Given the description of an element on the screen output the (x, y) to click on. 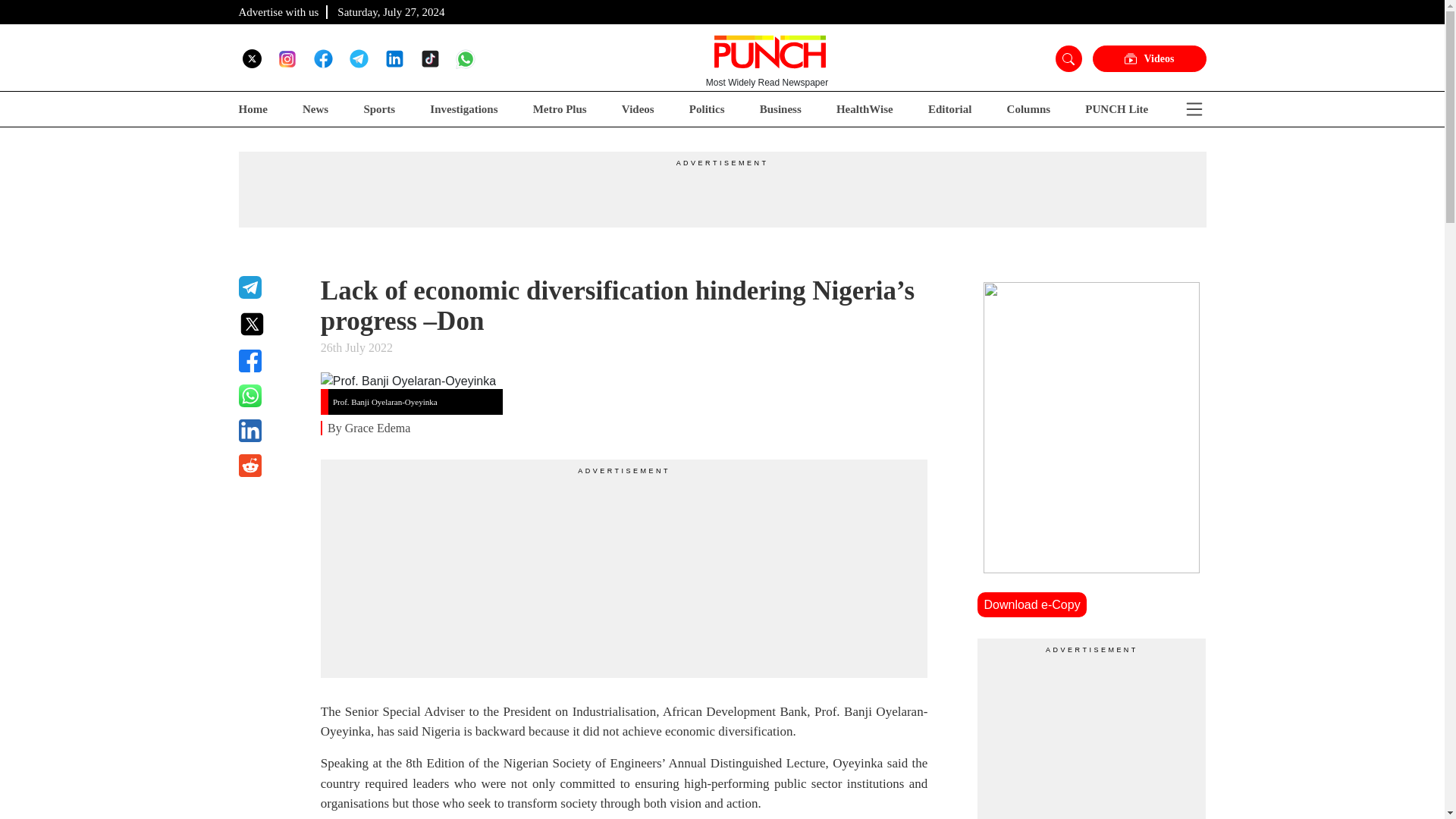
Follow us on our Whatsapp Channel (465, 57)
Follow Us on Instagram (287, 58)
Videos (1148, 58)
Follow Our Channel on Telegram (358, 58)
HealthWise (864, 109)
Share on Twitter (269, 324)
Share on Linkedin (269, 430)
Follow us on Tiktok (430, 58)
Editorial (950, 109)
Follow us on Linkedin (395, 58)
Videos (637, 109)
Advertise with us (278, 11)
News (315, 109)
Home (252, 109)
Metro Plus (559, 109)
